Given the description of an element on the screen output the (x, y) to click on. 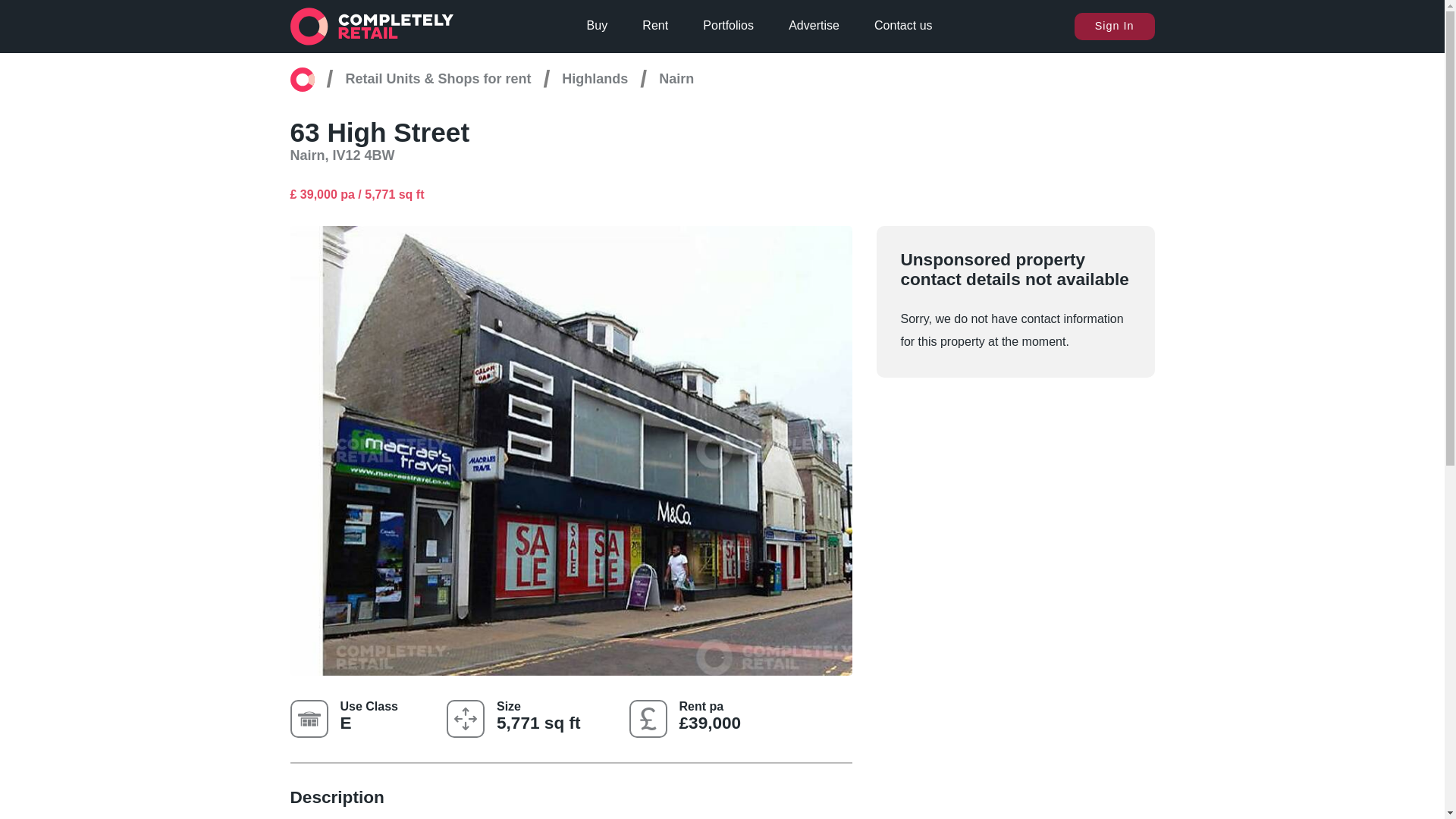
Portfolios (728, 26)
Nairn (676, 79)
Contact us (903, 26)
Rent (655, 26)
Buy (597, 26)
Sign In (1114, 26)
Highlands (594, 79)
